Given the description of an element on the screen output the (x, y) to click on. 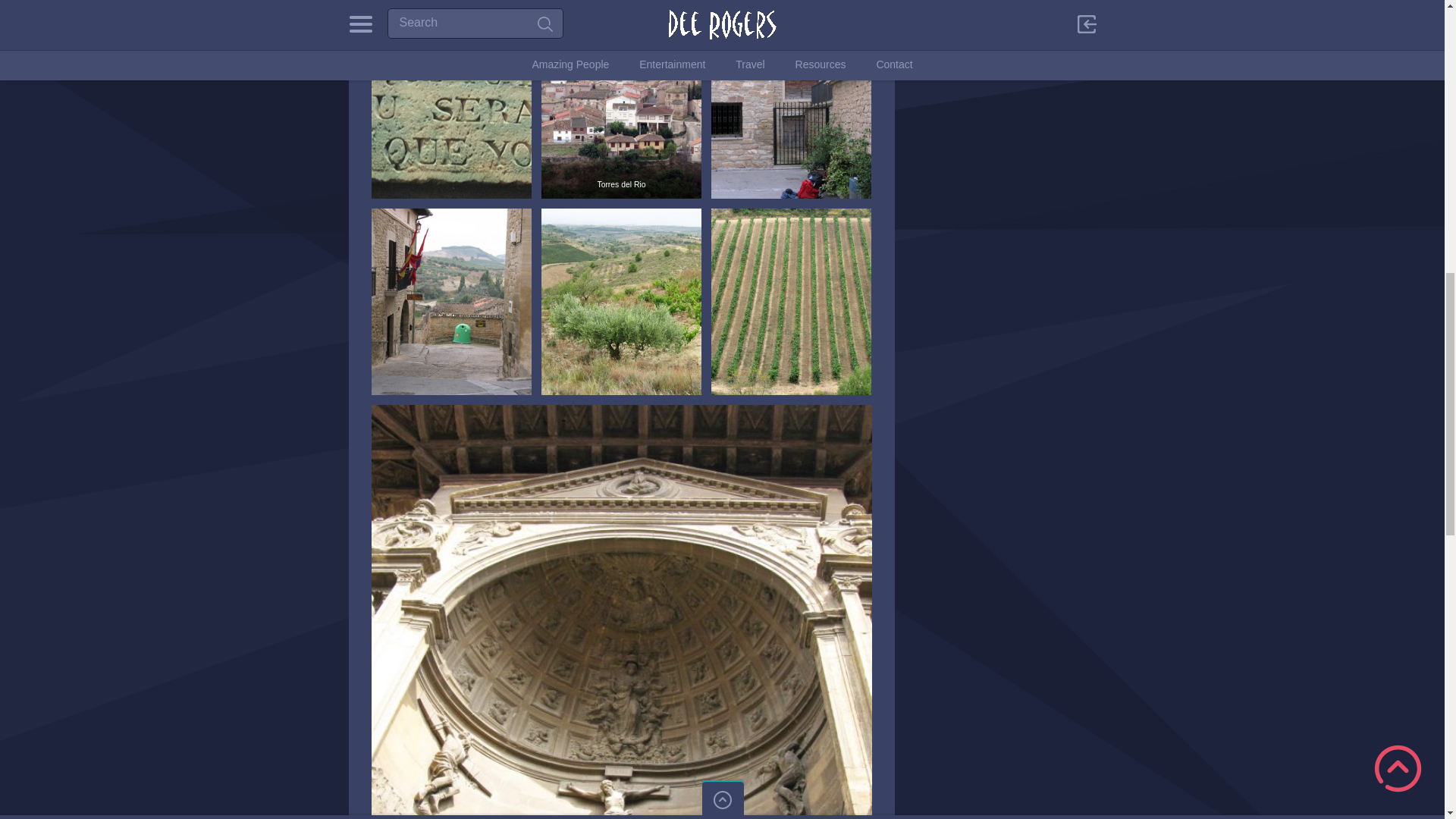
The New Democracy (708, 97)
Bishop Spong (692, 115)
Protected: The True Cost (717, 42)
The Rocket (687, 60)
